Given the description of an element on the screen output the (x, y) to click on. 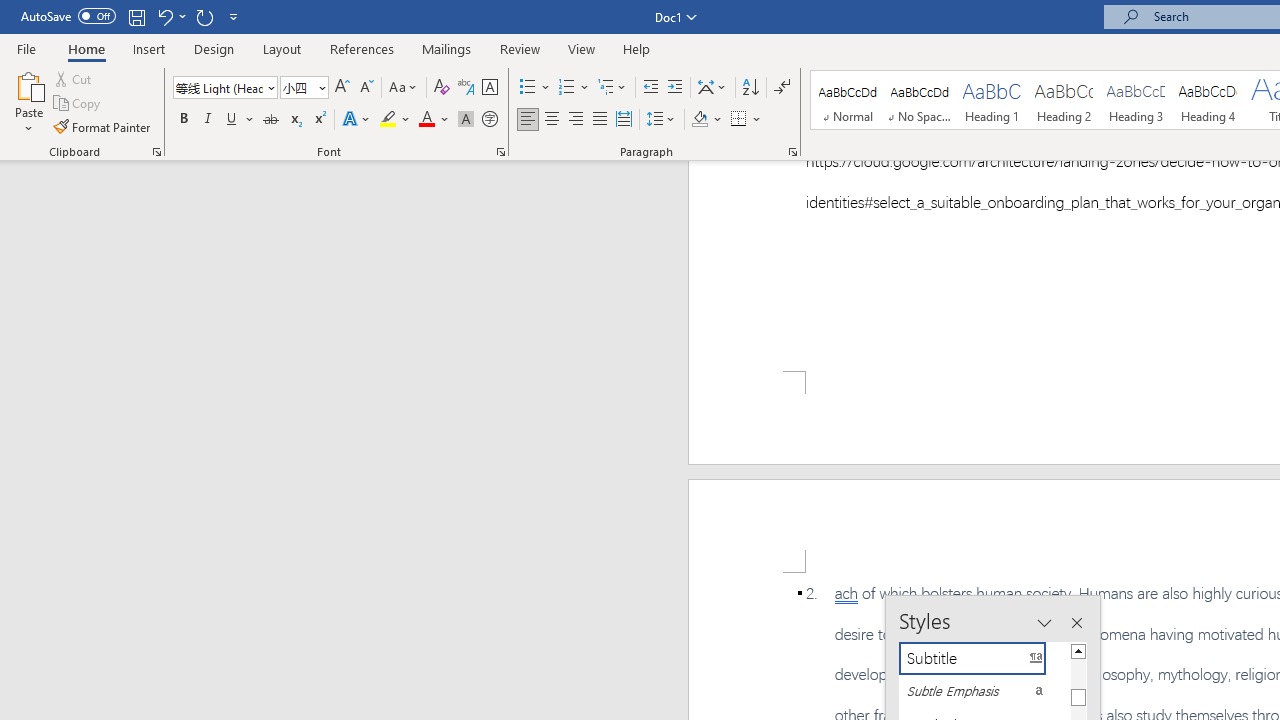
Home (86, 48)
Bullets (527, 87)
Change Case (404, 87)
Layout (282, 48)
Help (637, 48)
Bullets (535, 87)
Shading (706, 119)
Shading RGB(0, 0, 0) (699, 119)
Clear Formatting (442, 87)
Superscript (319, 119)
References (362, 48)
Text Highlight Color (395, 119)
Distributed (623, 119)
Insert (149, 48)
